Given the description of an element on the screen output the (x, y) to click on. 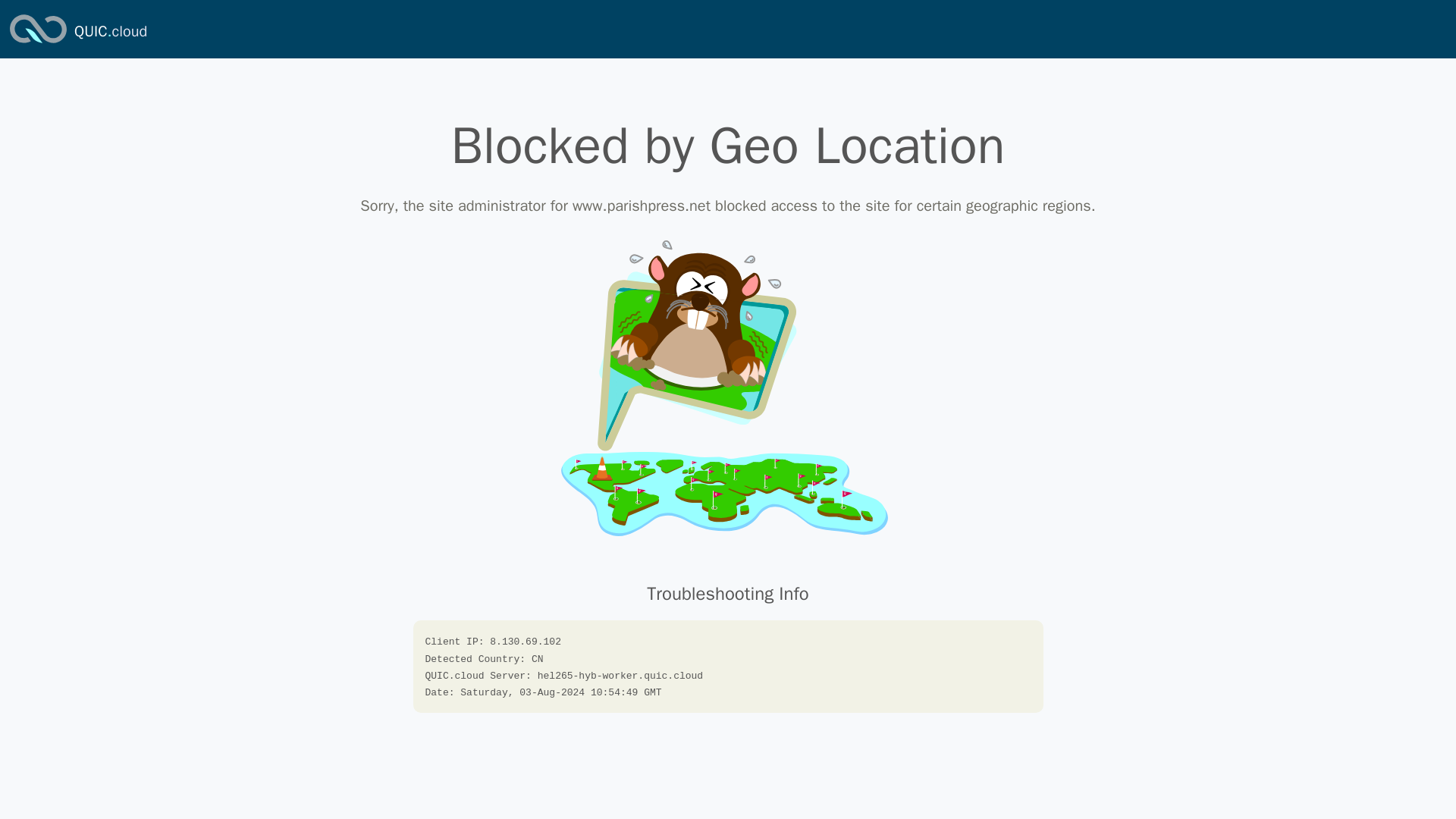
QUIC.cloud (37, 43)
QUIC.cloud (110, 31)
QUIC.cloud (110, 31)
